Given the description of an element on the screen output the (x, y) to click on. 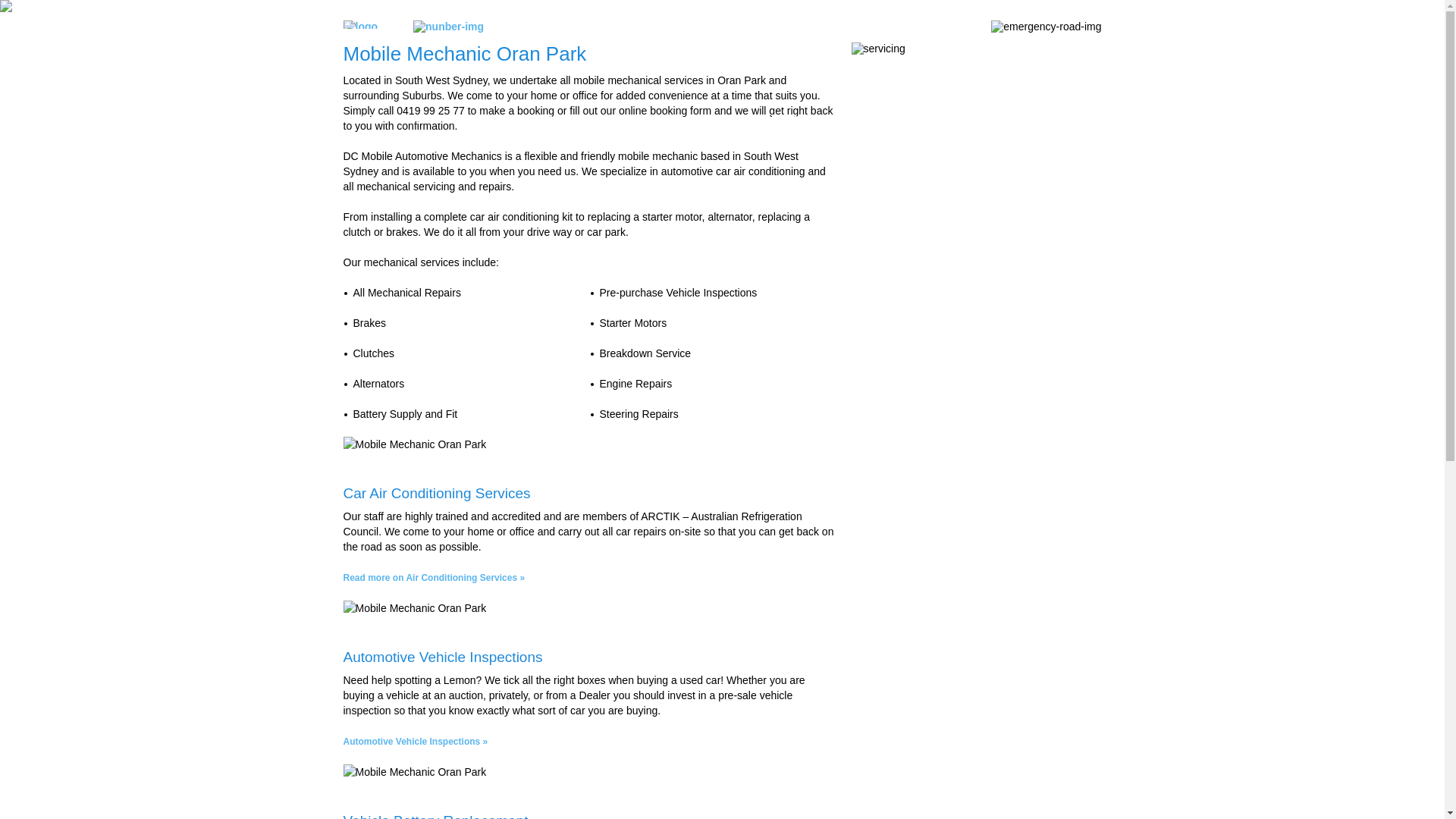
CONTACT US Element type: text (1008, 118)
ABOUT US Element type: text (438, 118)
24 HOUR BREAK DOWN SERVICE Element type: text (586, 118)
HOME Element type: text (369, 118)
CAR SERVICES Element type: text (905, 118)
MECHANICAL REPAIRS Element type: text (772, 118)
